Given the description of an element on the screen output the (x, y) to click on. 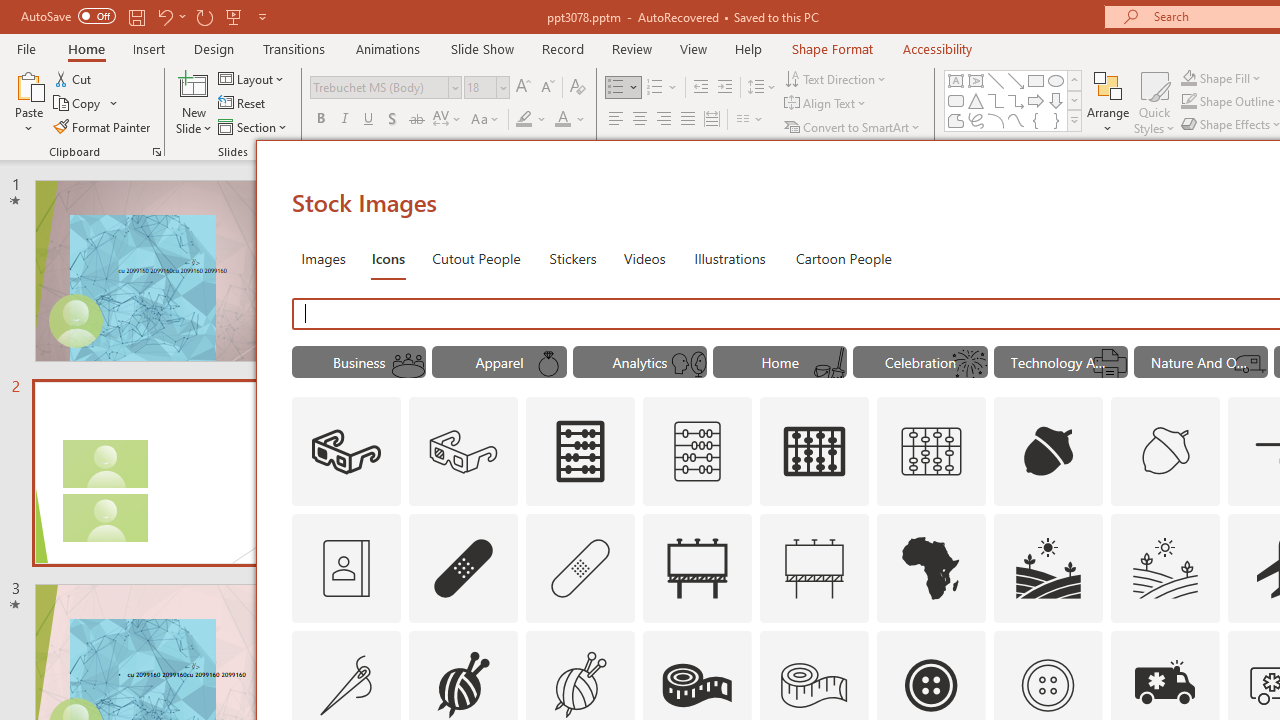
Line Arrow (1016, 80)
"Home" Icons. (779, 362)
AutomationID: Icons_Reflection_M (688, 364)
AutomationID: Icons_Abacus (580, 452)
Thumbnail (1204, 645)
Illustrations (729, 258)
